Given the description of an element on the screen output the (x, y) to click on. 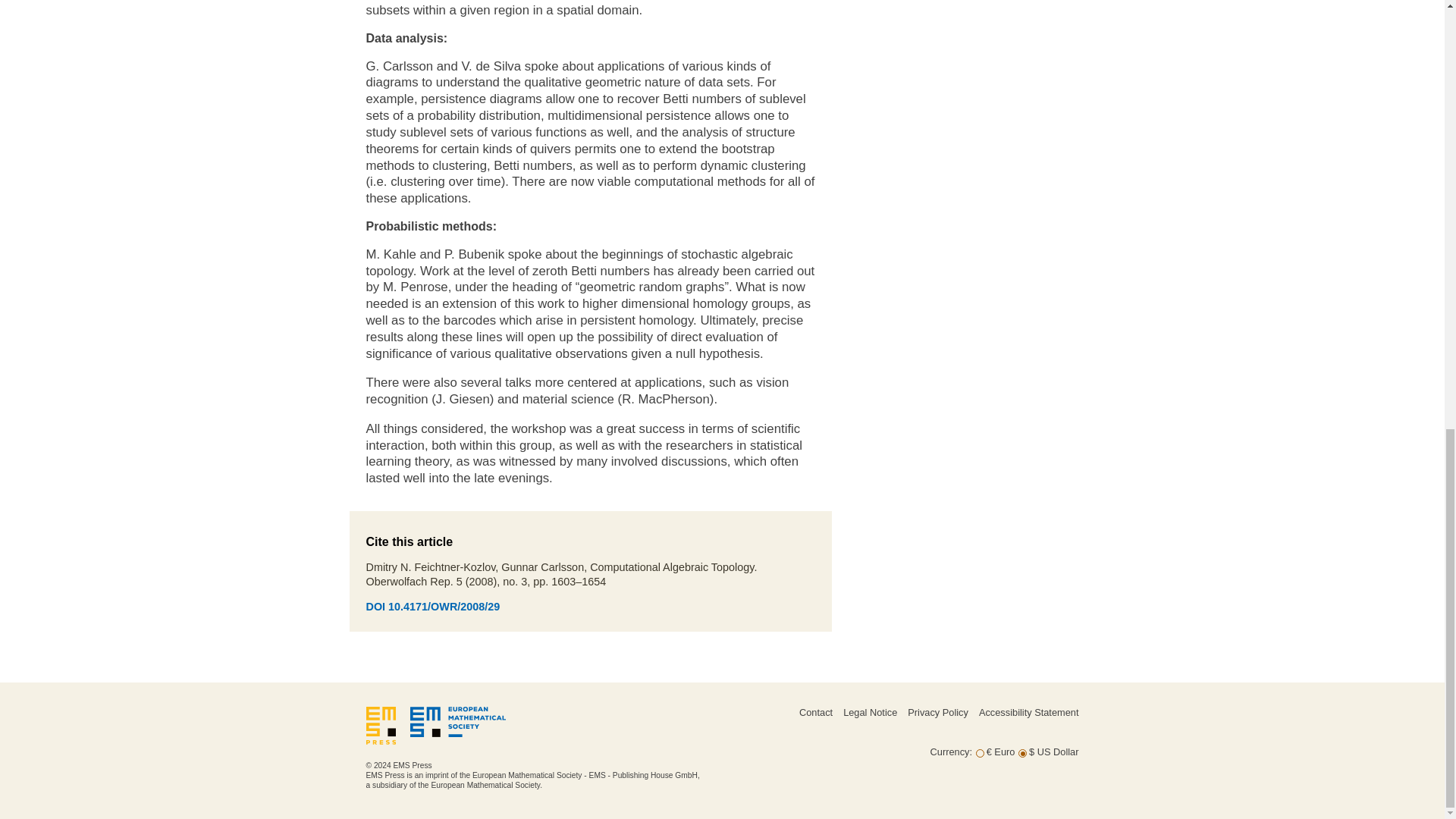
Footer Navigation (889, 726)
USD (1021, 753)
Accessibility Statement (1028, 712)
EUR (979, 753)
Privacy Policy (937, 712)
Contact (815, 712)
Legal Notice (869, 712)
